Given the description of an element on the screen output the (x, y) to click on. 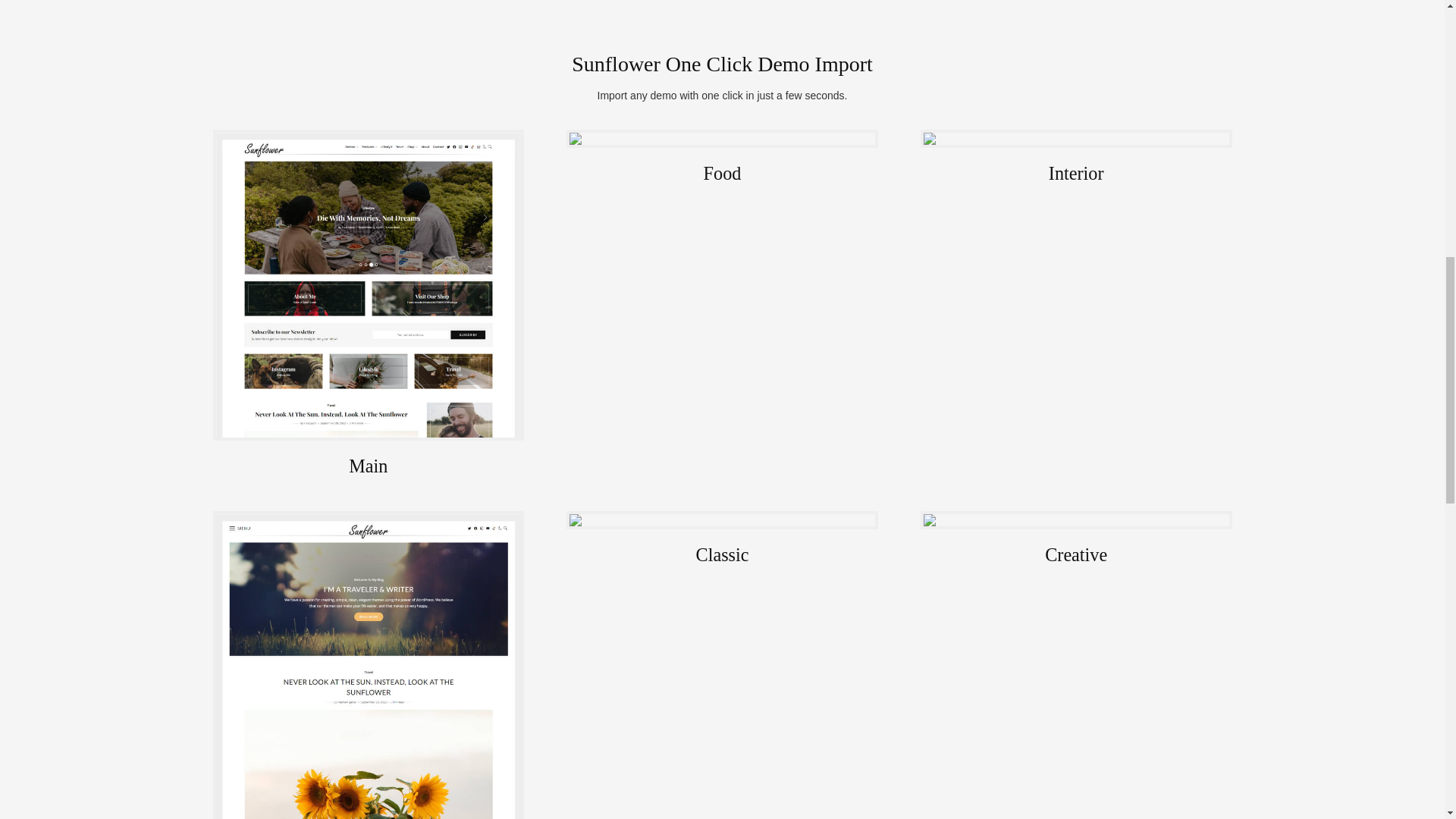
Minimal (368, 665)
Main (368, 307)
Creative (1075, 665)
Classic (721, 665)
Food (721, 307)
Interior (1075, 307)
